Given the description of an element on the screen output the (x, y) to click on. 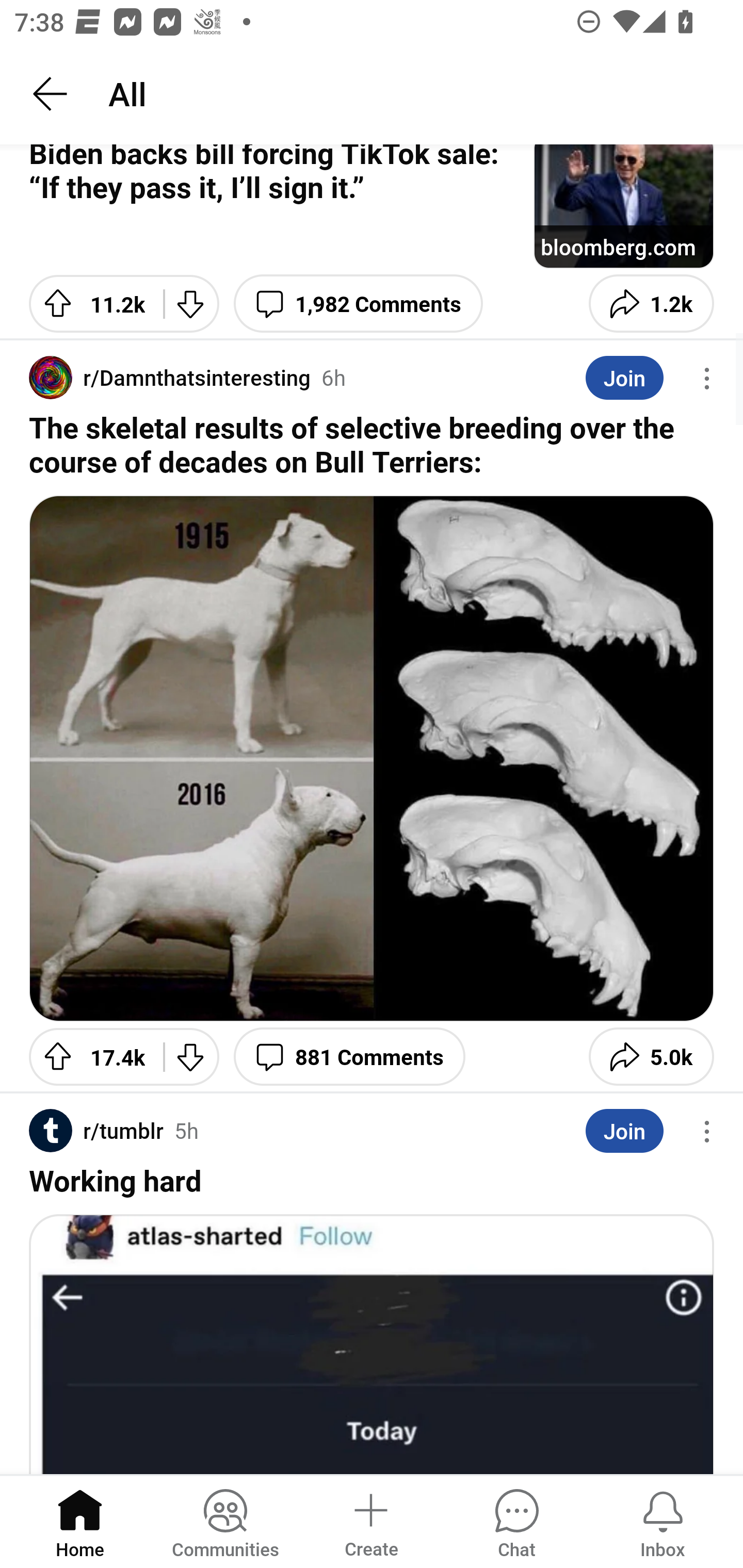
Thumbnail image bloomberg.com (623, 206)
Upvote 11.2k (88, 303)
Downvote (191, 303)
1,982 Comments (358, 303)
Share 1.2k (651, 303)
Avatar r/Damnthatsinteresting (169, 377)
Join (624, 377)
Overflow menu (706, 378)
Image (371, 758)
Upvote 17.4k (88, 1056)
Downvote (191, 1056)
881 Comments (349, 1056)
Share 5.0k (651, 1056)
Avatar r/tumblr (95, 1130)
Join (624, 1131)
Overflow menu (706, 1131)
Image (371, 1343)
Home (80, 1520)
Communities (225, 1520)
Create a post Create (370, 1520)
Chat (516, 1520)
Inbox (662, 1520)
